Given the description of an element on the screen output the (x, y) to click on. 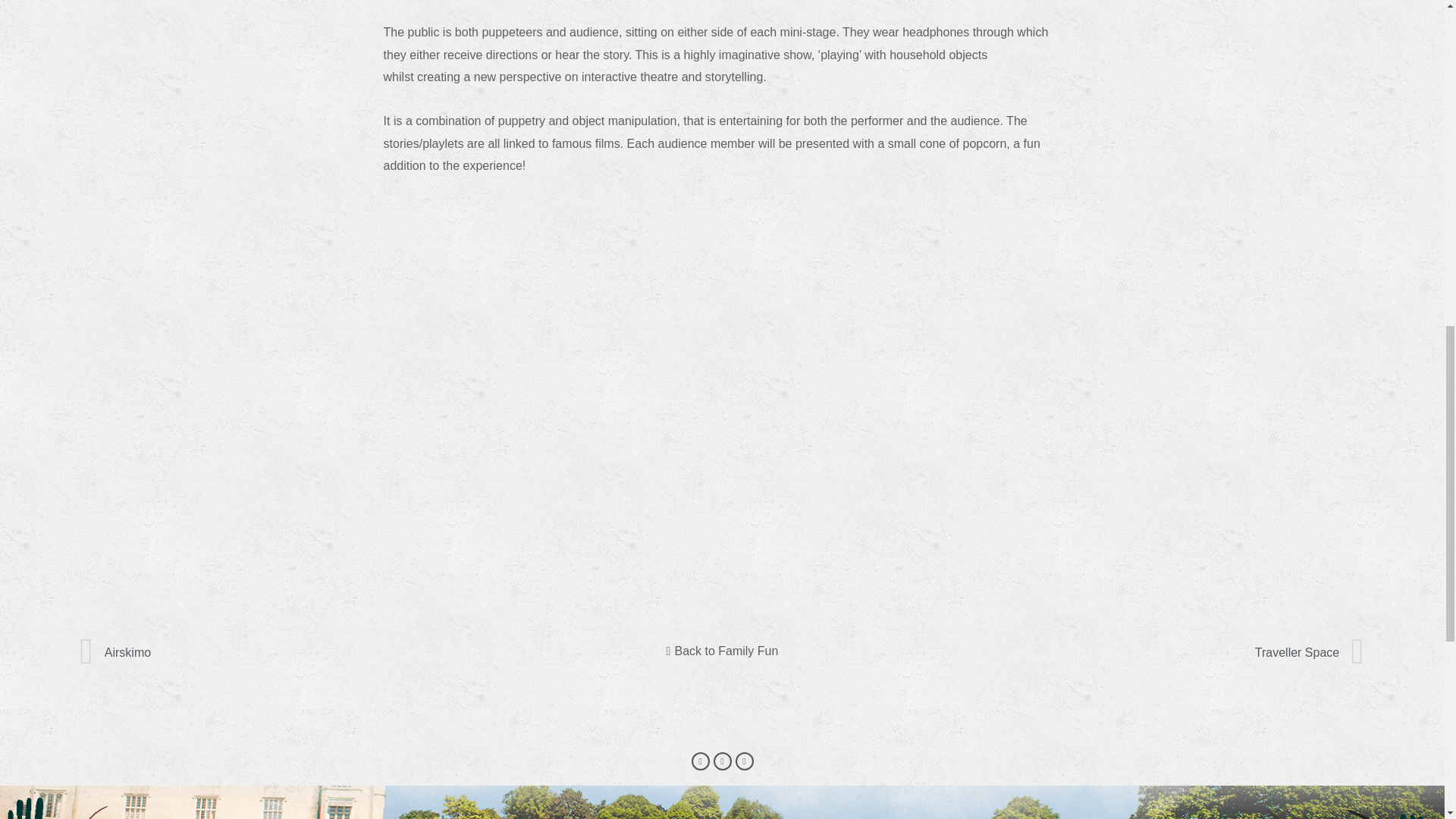
Back to Family Fun (722, 651)
